Given the description of an element on the screen output the (x, y) to click on. 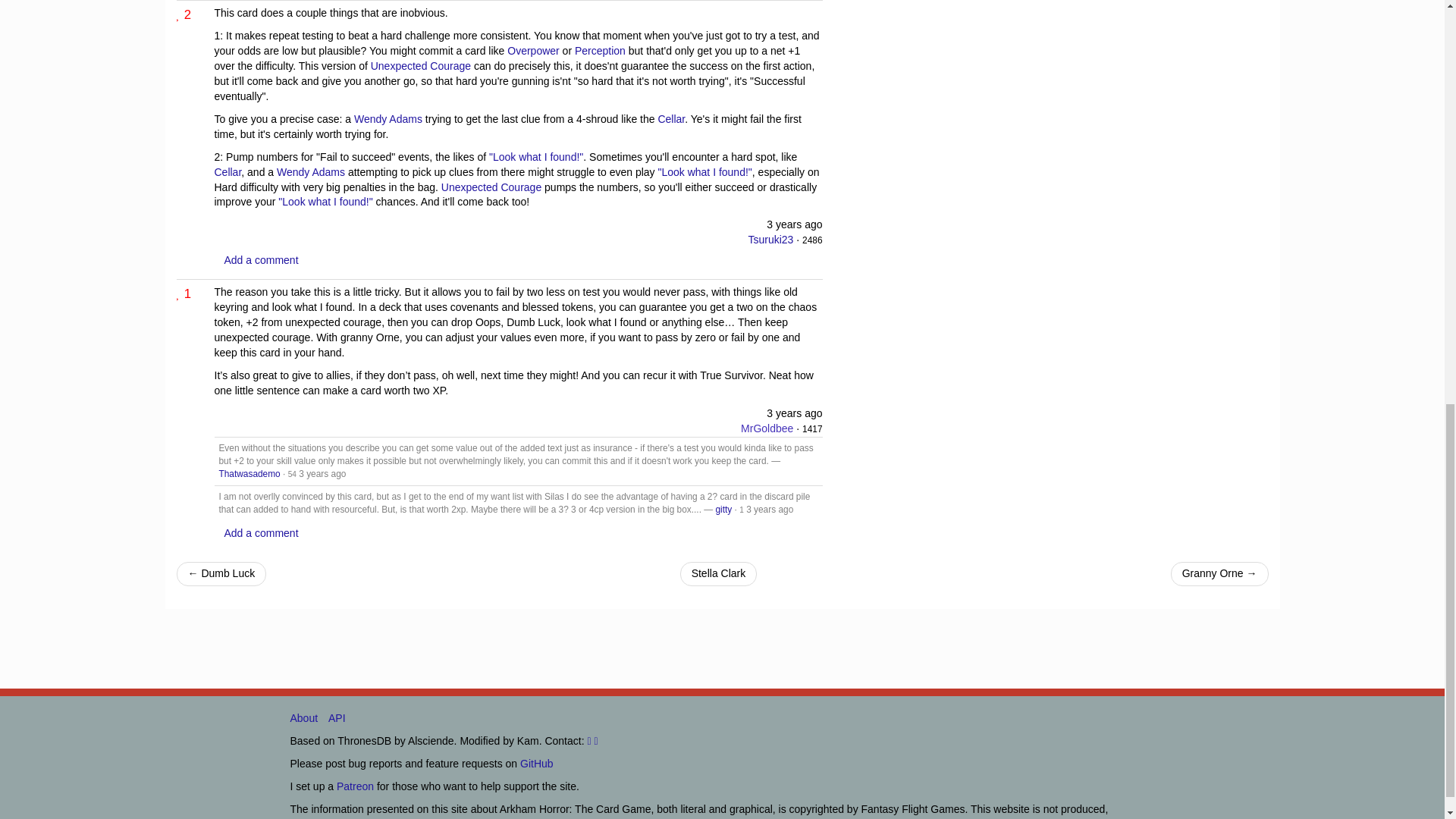
User Reputation (812, 429)
User Reputation (812, 240)
Monday, September 27, 2021 6:15 AM (794, 224)
Saturday, February 20, 2021 7:20 PM (322, 473)
User Reputation (292, 474)
Saturday, February 20, 2021 2:42 AM (794, 413)
